Given the description of an element on the screen output the (x, y) to click on. 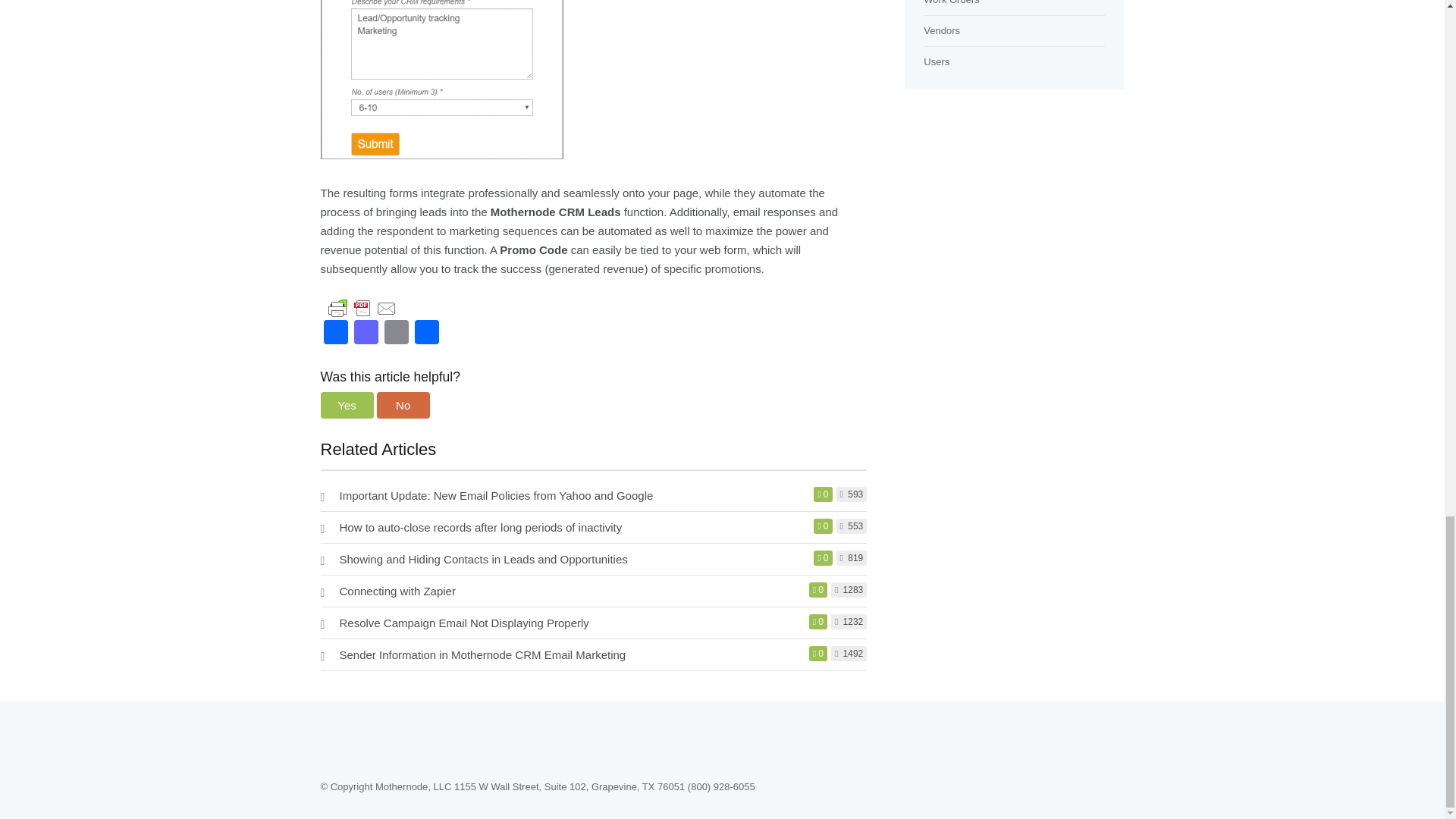
Resolve Campaign Email Not Displaying Properly (464, 622)
Showing and Hiding Contacts in Leads and Opportunities (483, 558)
Connecting with Zapier (397, 590)
Connecting with Zapier (397, 590)
Facebook (335, 334)
No (403, 405)
Email (395, 334)
Facebook (335, 334)
Important Update: New Email Policies from Yahoo and Google (496, 495)
Sender Information in Mothernode CRM Email Marketing (482, 654)
